Given the description of an element on the screen output the (x, y) to click on. 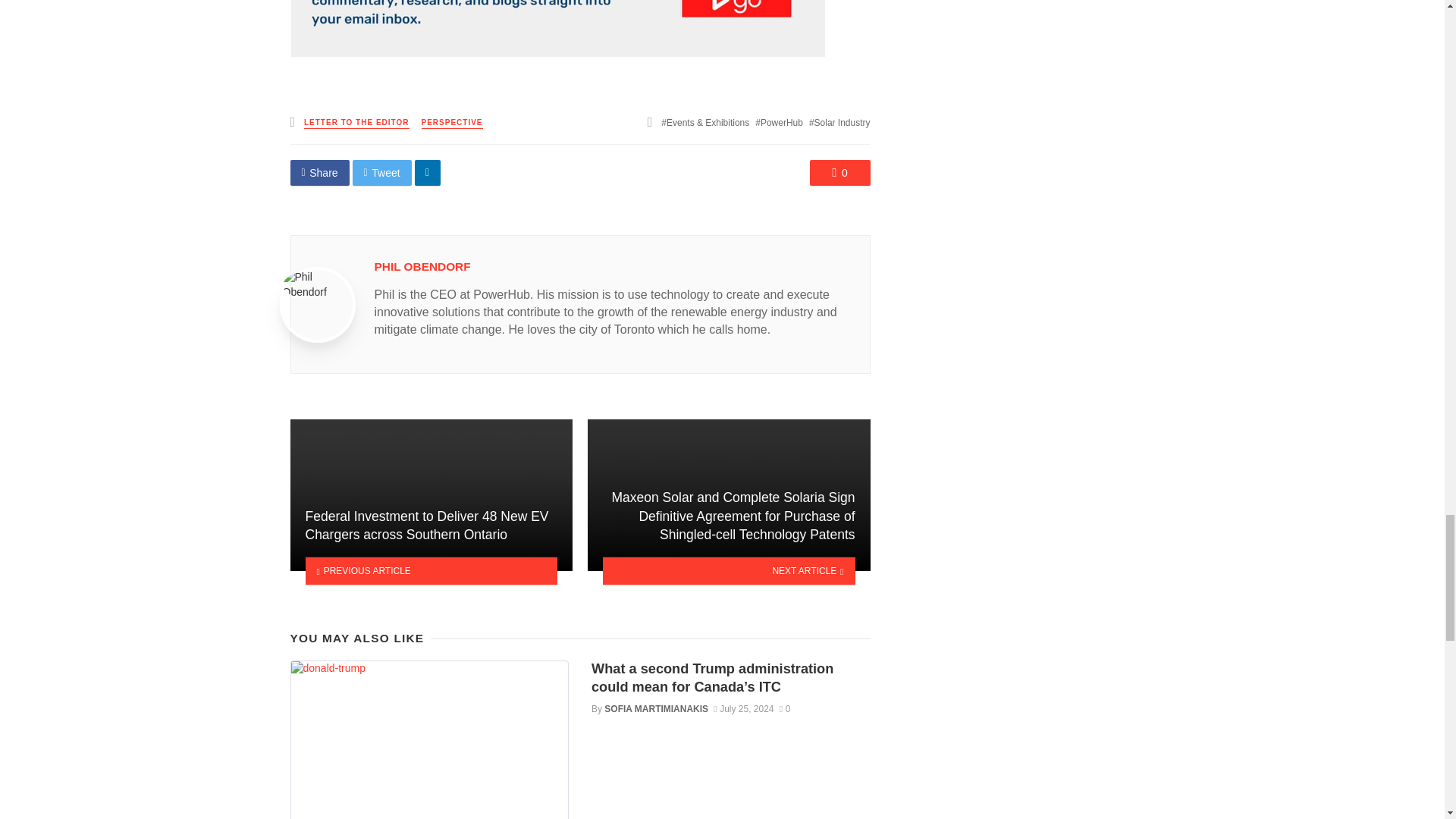
0 Comments (839, 172)
Share on Facebook (319, 172)
Share on Linkedin (427, 172)
Share on Twitter (382, 172)
